Given the description of an element on the screen output the (x, y) to click on. 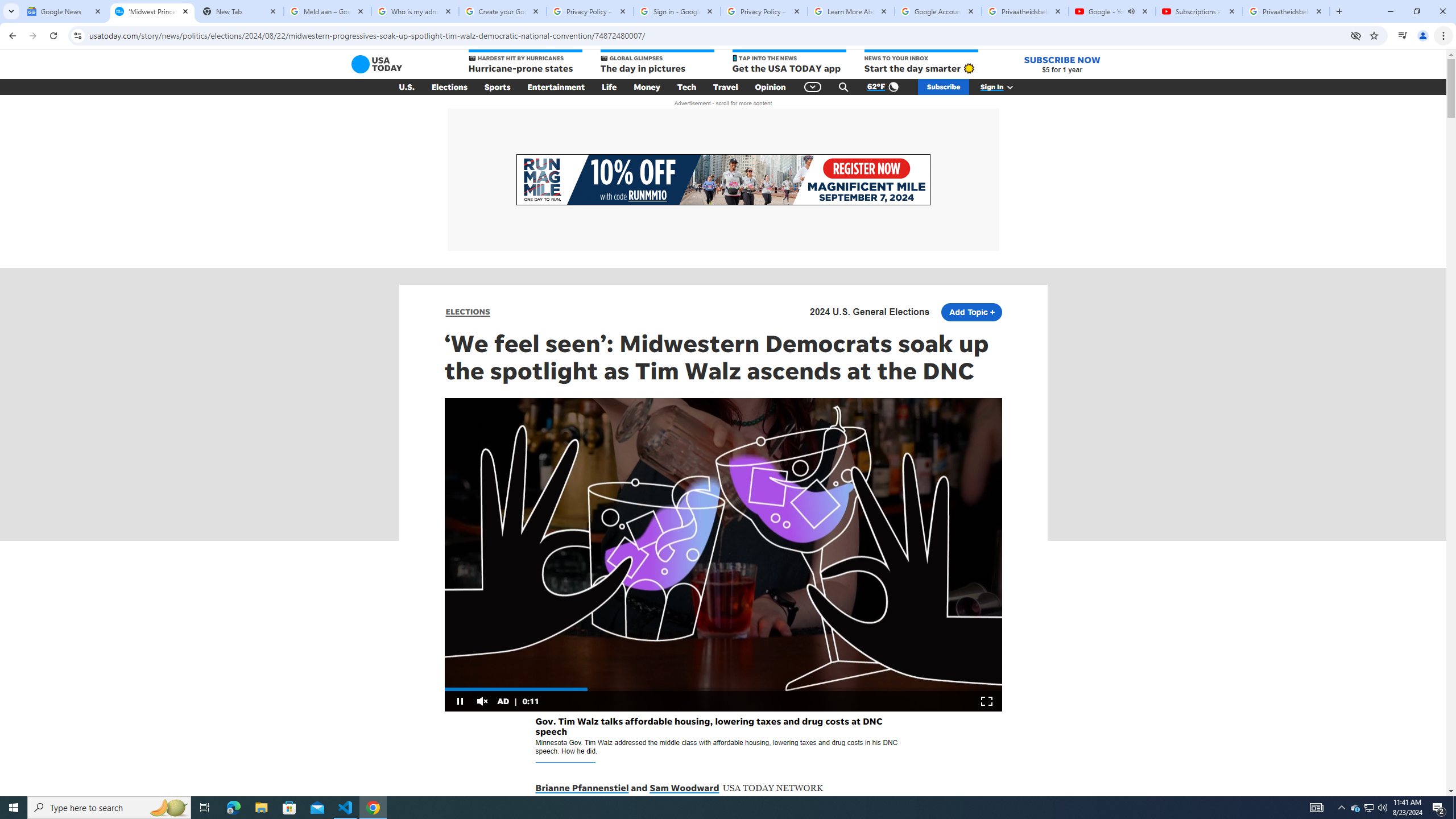
Sign In (1002, 87)
Google Account (938, 11)
Subscribe (943, 87)
Google News (64, 11)
Global Navigation (812, 87)
USA TODAY (376, 64)
Sam Woodward (684, 788)
Sports (497, 87)
ELECTIONS (468, 311)
